Given the description of an element on the screen output the (x, y) to click on. 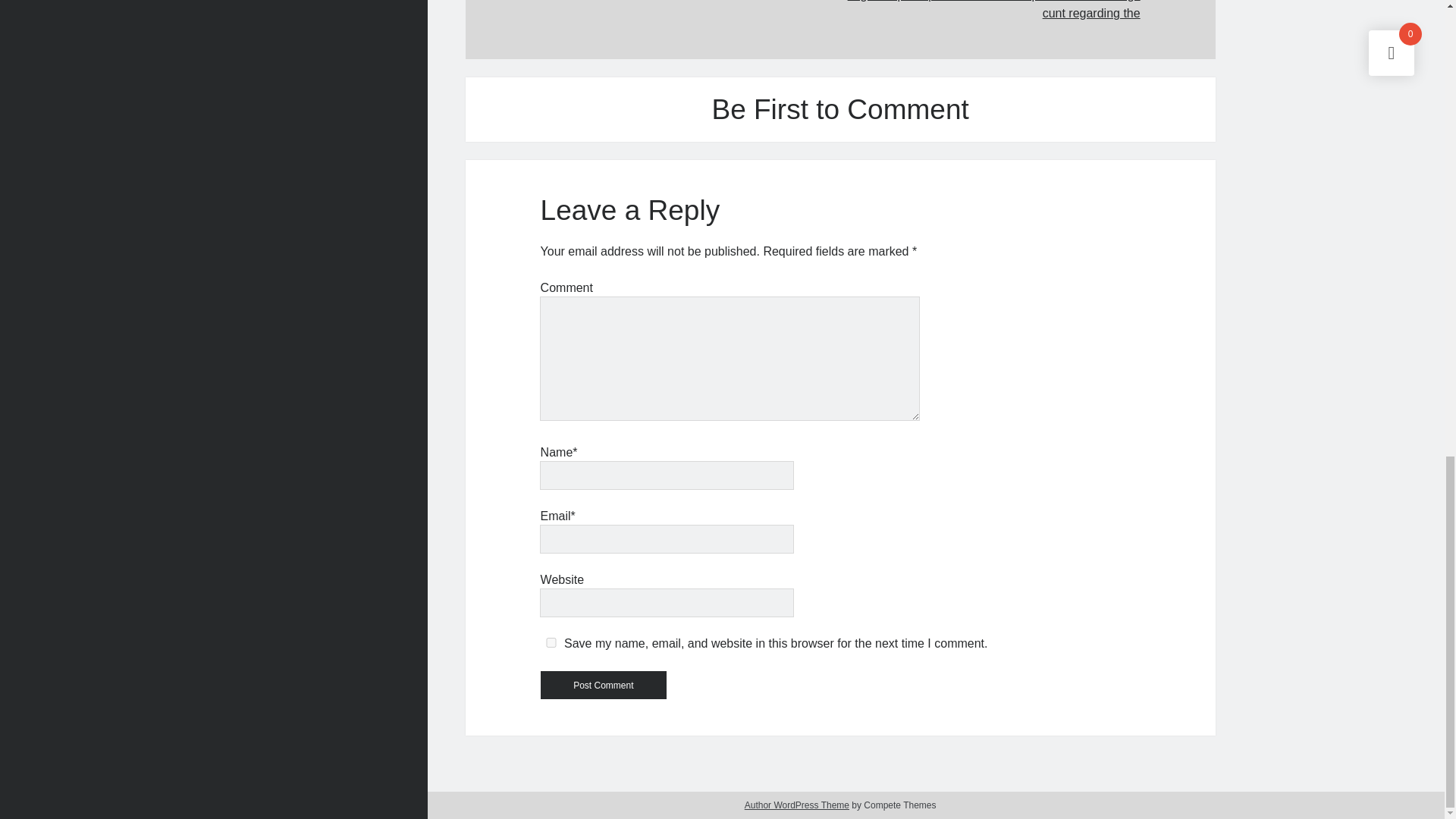
Author WordPress Theme (796, 805)
yes (551, 642)
Post Comment (603, 684)
Post Comment (603, 684)
